Given the description of an element on the screen output the (x, y) to click on. 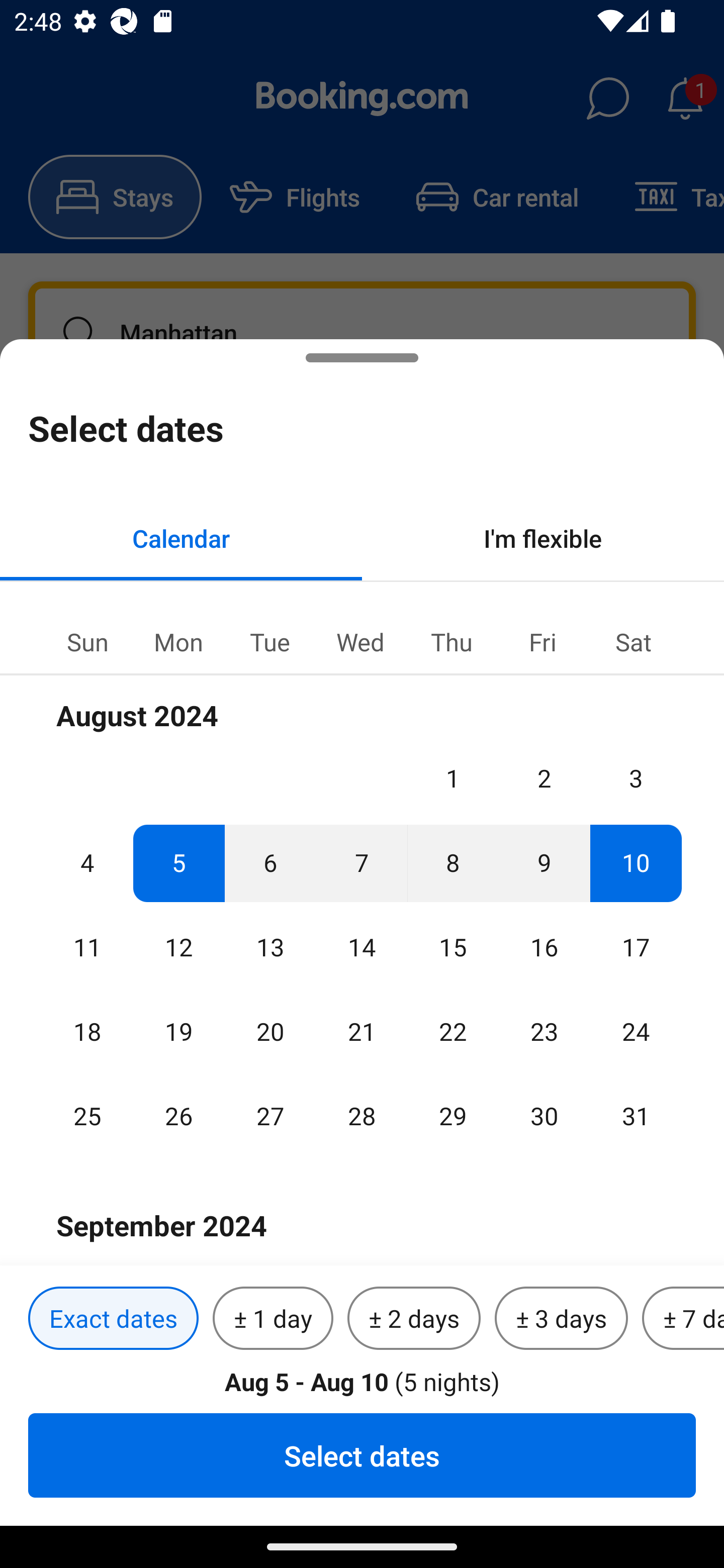
I'm flexible (543, 537)
Exact dates (113, 1318)
± 1 day (272, 1318)
± 2 days (413, 1318)
± 3 days (560, 1318)
± 7 days (683, 1318)
Select dates (361, 1454)
